Given the description of an element on the screen output the (x, y) to click on. 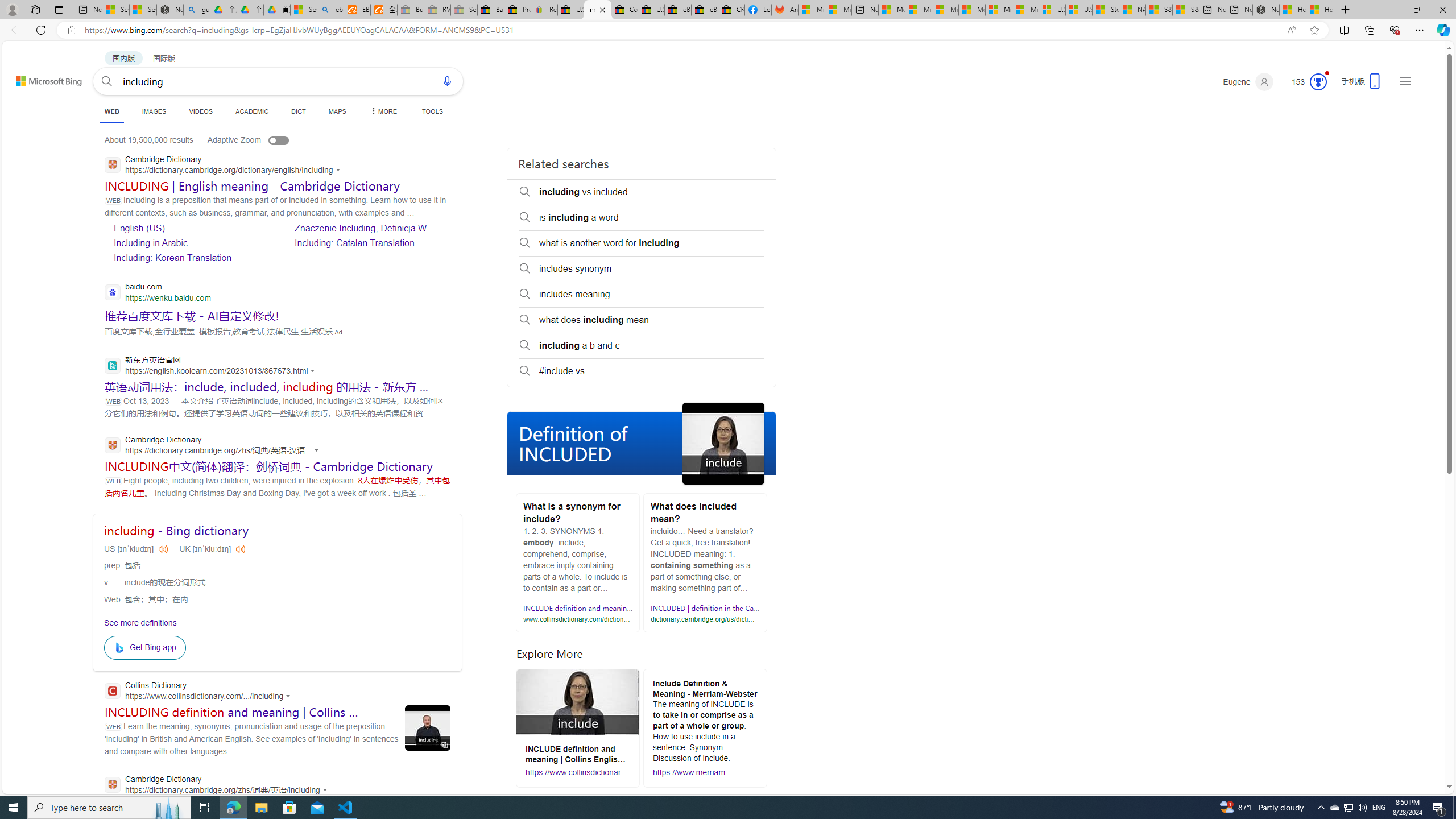
AutomationID: mfa_root (1406, 752)
S&P 500, Nasdaq end lower, weighed by Nvidia dip | Watch (1185, 9)
Class: medal-circled (1317, 81)
App bar (728, 29)
Search more (1423, 753)
VIDEOS (201, 111)
Log into Facebook (757, 9)
ACADEMIC (252, 111)
what does including mean (641, 319)
ebay - Search (329, 9)
